Given the description of an element on the screen output the (x, y) to click on. 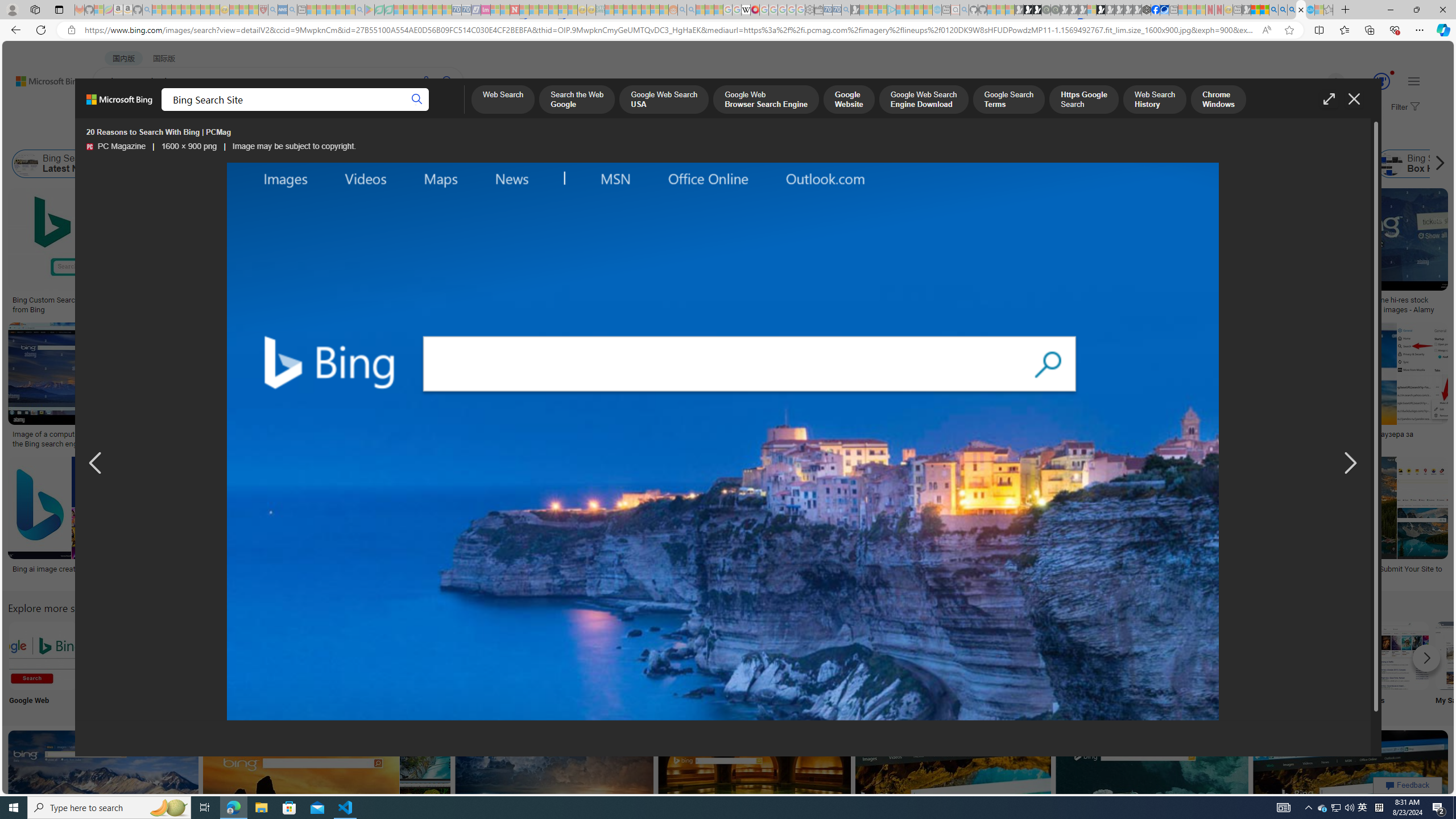
Bing Intelligent Search (1093, 654)
Bing ai image creator (47, 568)
Web Search History (1154, 100)
Show Bing Search Engine (505, 163)
Layout (253, 135)
DICT (407, 111)
Date (336, 135)
Google Web Search Bing Google Web (42, 665)
